Given the description of an element on the screen output the (x, y) to click on. 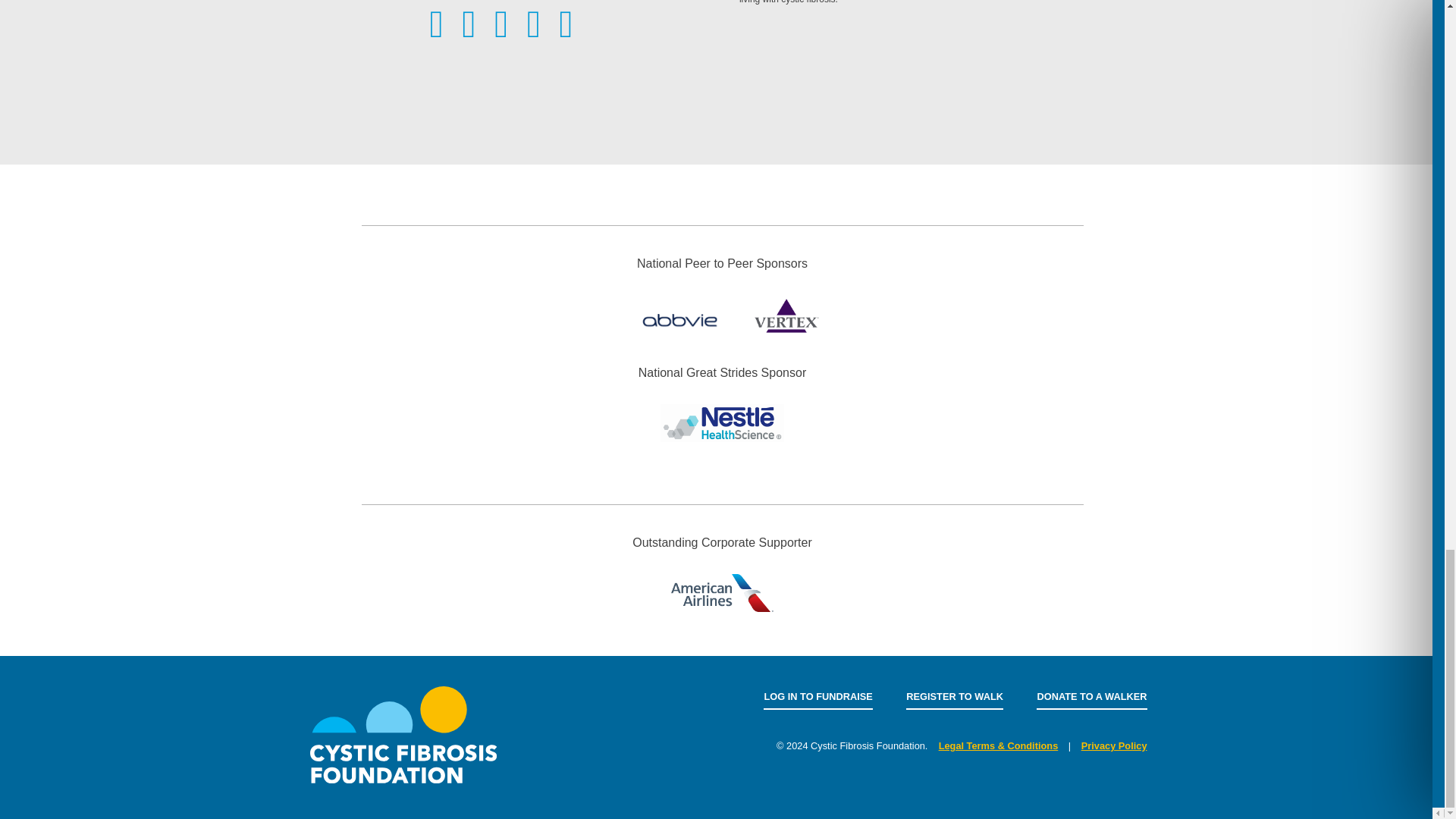
Privacy Policy (1114, 745)
DONATE TO A WALKER (1091, 696)
LOG IN TO FUNDRAISE (817, 696)
REGISTER TO WALK (954, 696)
